Given the description of an element on the screen output the (x, y) to click on. 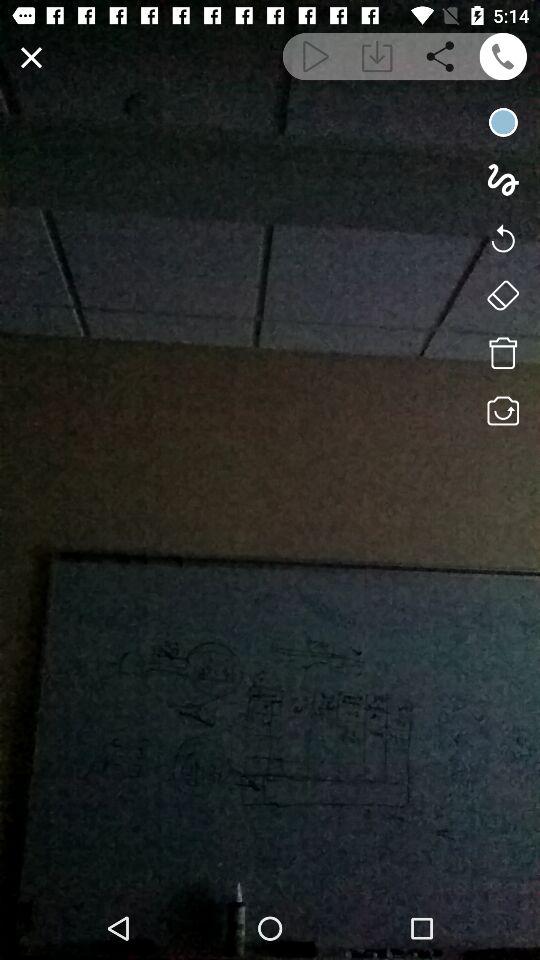
toggle draw feature (502, 179)
